Given the description of an element on the screen output the (x, y) to click on. 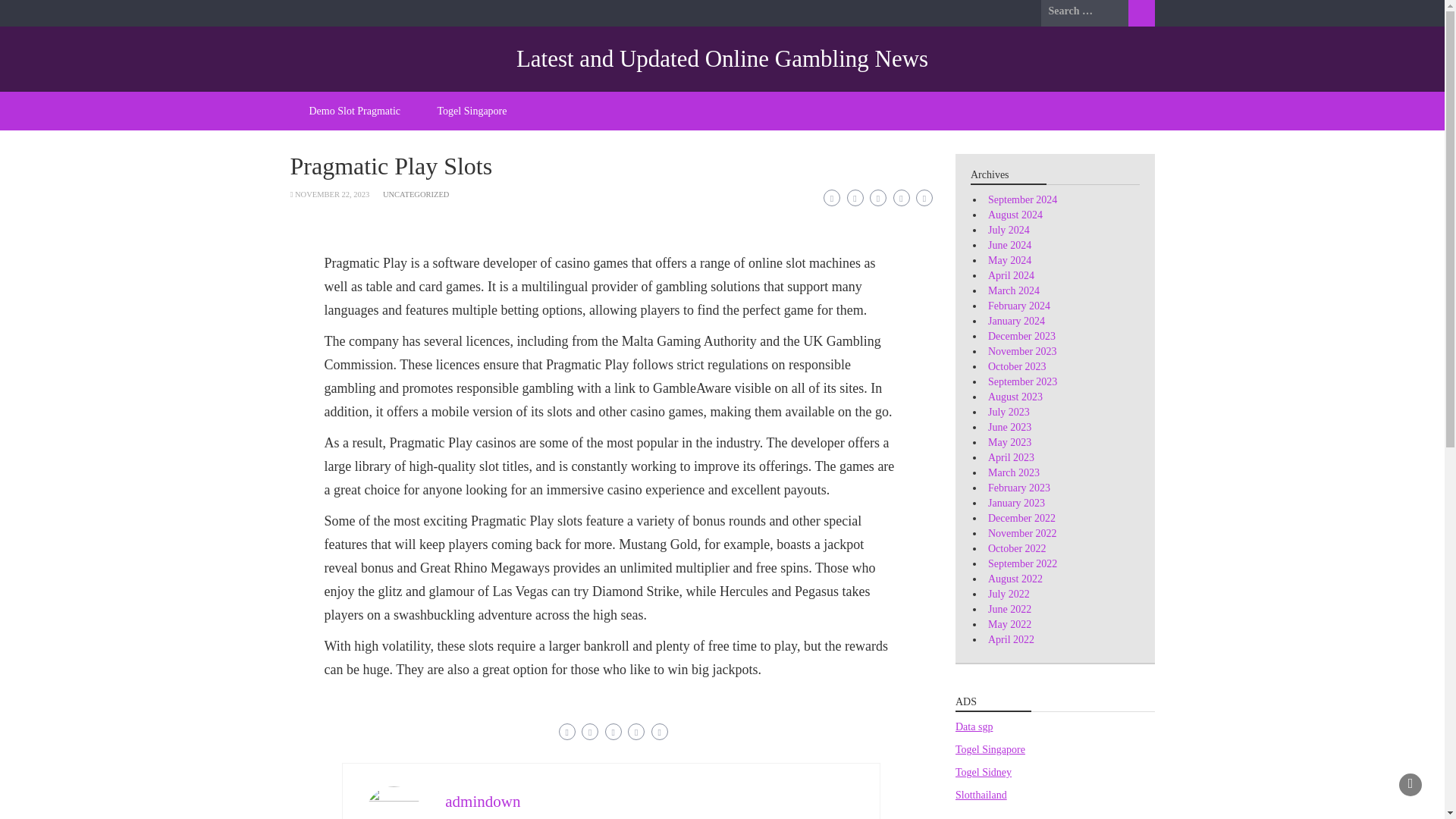
November 2023 (1022, 351)
Togel Singapore (472, 110)
March 2024 (1013, 290)
December 2023 (1021, 336)
Search for: (1083, 11)
May 2024 (1009, 260)
February 2024 (1018, 306)
April 2023 (1010, 457)
April 2024 (1010, 275)
August 2023 (1015, 396)
